Given the description of an element on the screen output the (x, y) to click on. 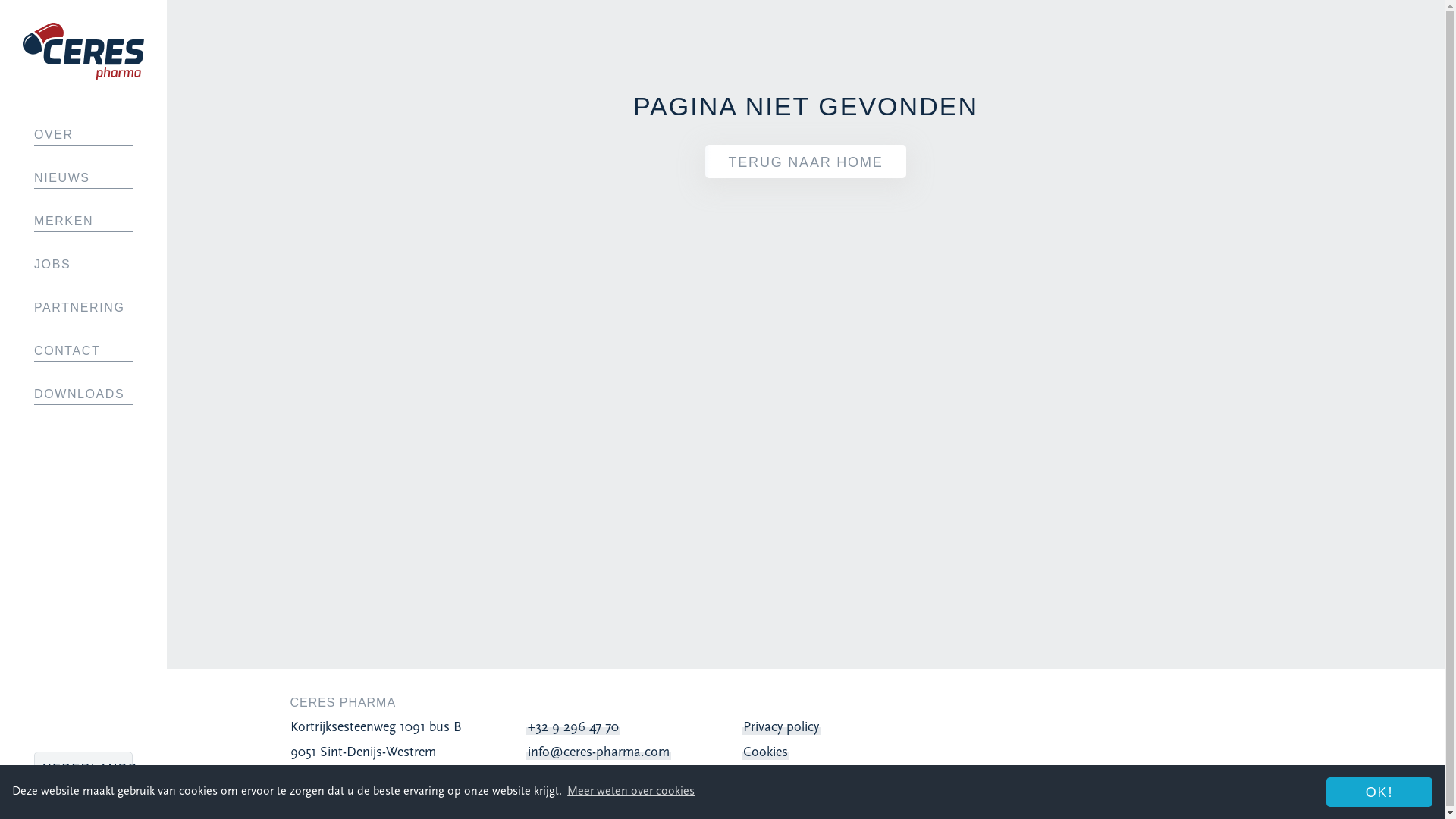
Privacy policy Element type: text (781, 727)
info@ceres-pharma.com Element type: text (598, 752)
OVER Element type: text (83, 134)
JOBS Element type: text (83, 264)
TERUG NAAR HOME Element type: text (805, 161)
General terms and conditions of sale Element type: text (848, 776)
+32 9 296 47 70 Element type: text (572, 727)
CONTACT Element type: text (83, 350)
Cookies Element type: text (765, 752)
MERKEN Element type: text (83, 221)
NIEUWS Element type: text (83, 178)
OK! Element type: text (1379, 791)
PARTNERING Element type: text (83, 307)
Site by Esign Element type: text (1423, 788)
Meer weten over cookies Element type: text (630, 791)
DOWNLOADS Element type: text (83, 394)
